Given the description of an element on the screen output the (x, y) to click on. 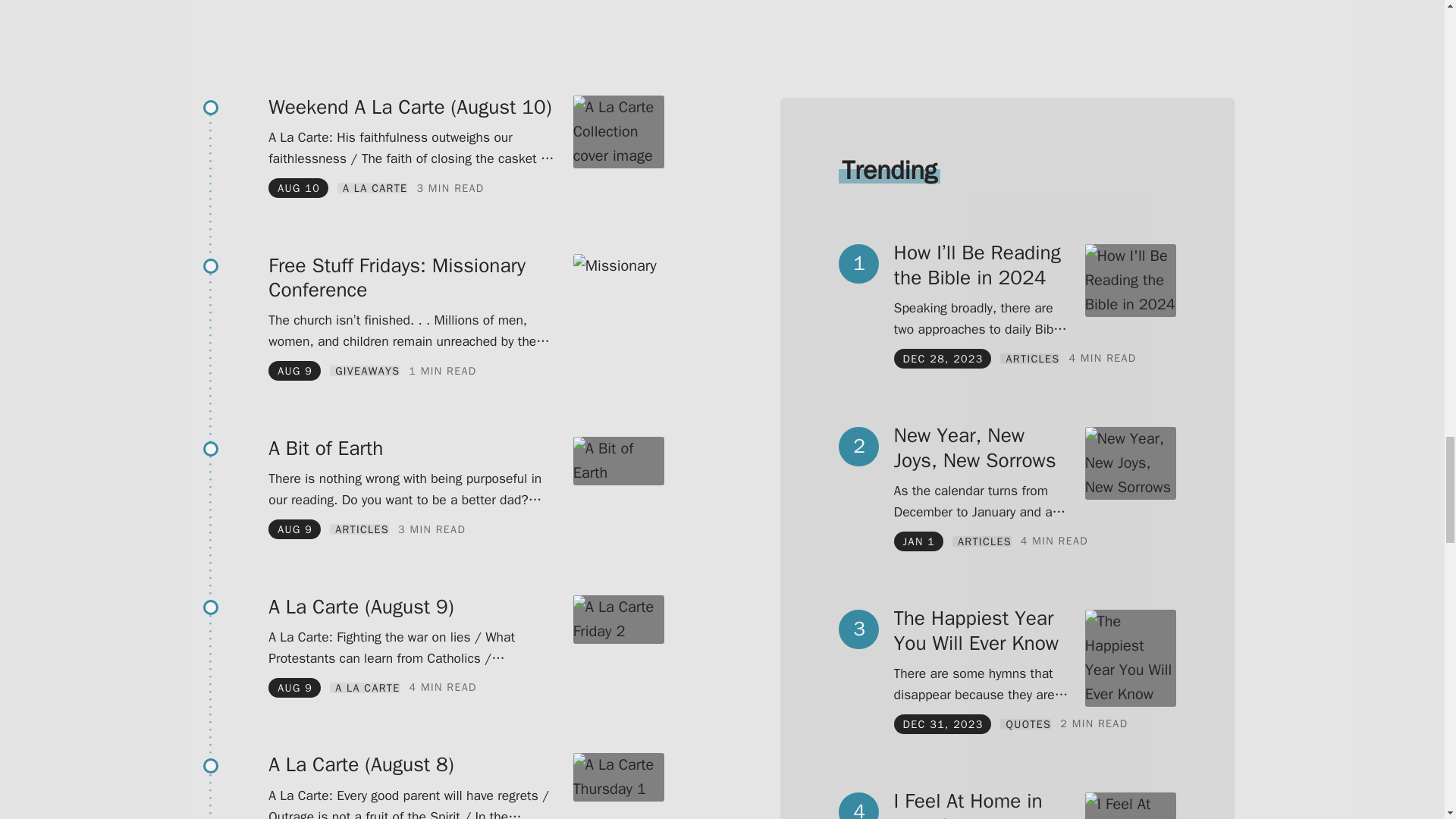
Aug 10, 2024 at 12:01 am (299, 187)
381 words (449, 187)
167 words (442, 370)
Aug 9, 2024 at 12:01 pm (295, 370)
